Given the description of an element on the screen output the (x, y) to click on. 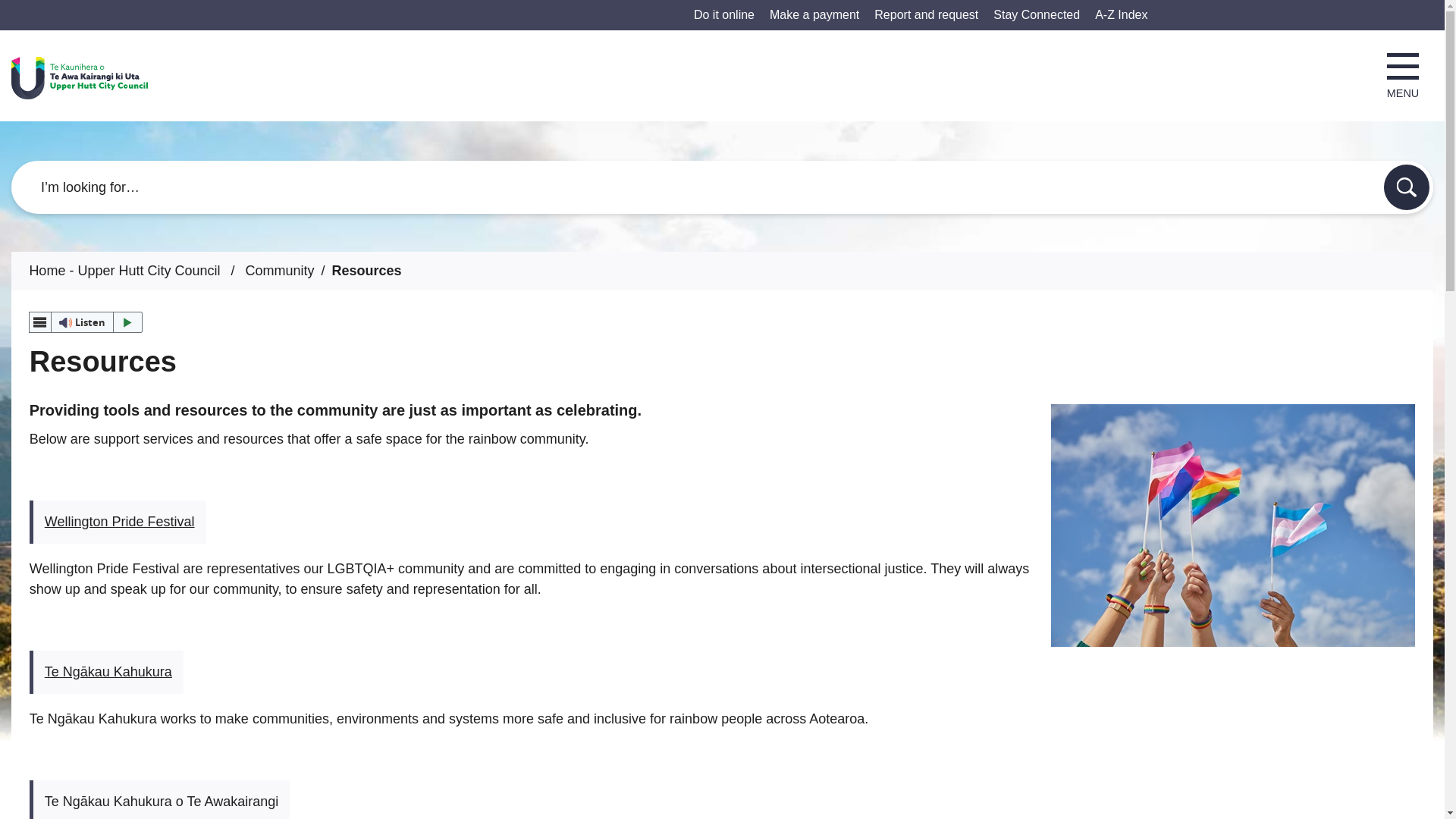
Search (1406, 186)
Do it online (724, 14)
webReader menu (39, 322)
Search (1406, 186)
Report and request (926, 14)
Search (1406, 186)
A-Z Index (1120, 14)
Listen to this page using ReadSpeaker (85, 322)
Make a payment (814, 14)
Stay Connected (1036, 14)
Upper Hutt City Council - Home - Logo (79, 77)
MENU (1402, 75)
